Given the description of an element on the screen output the (x, y) to click on. 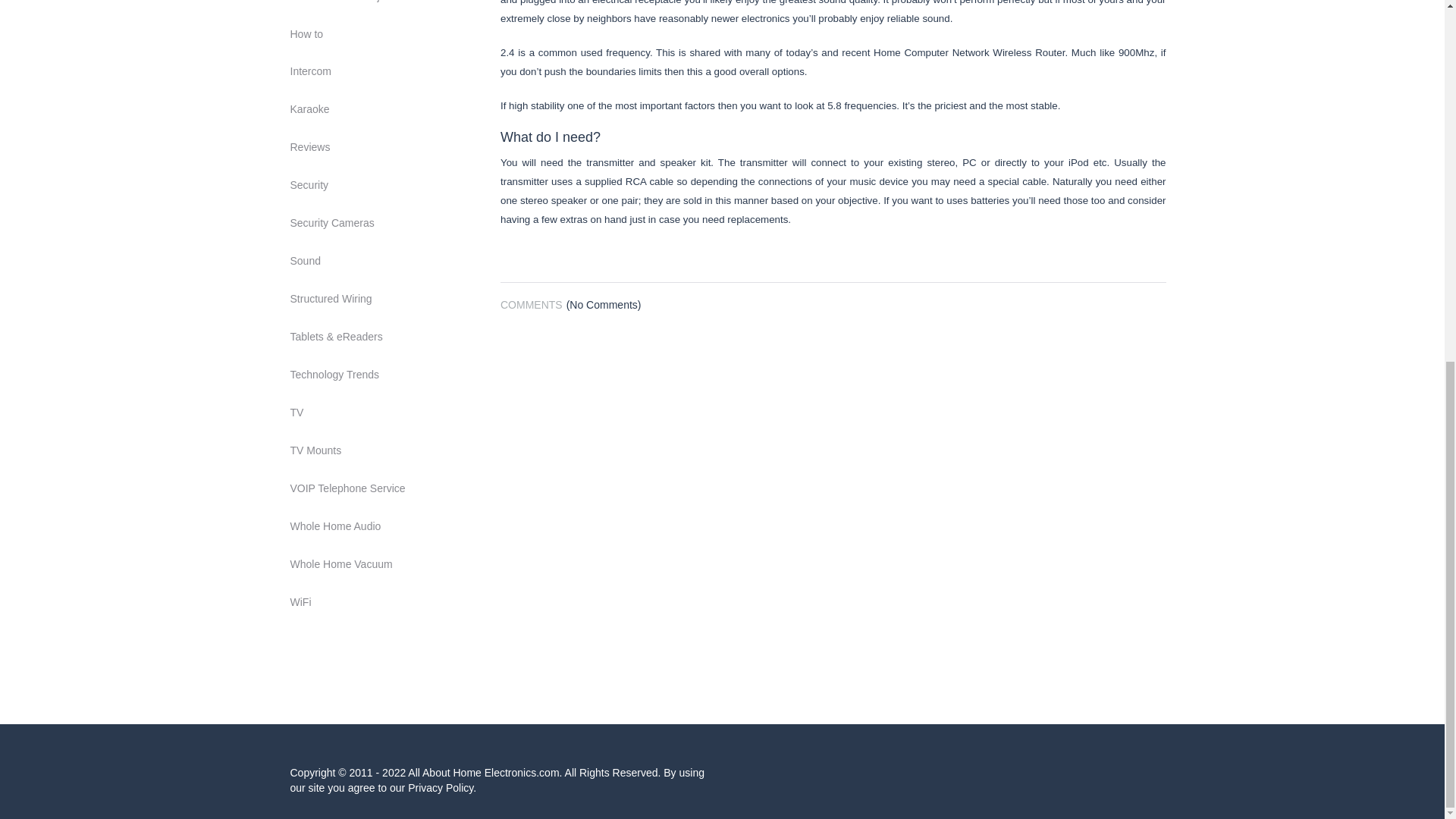
Intercom (383, 71)
Karaoke (383, 109)
How to (383, 33)
Home Theater Projector (383, 2)
